Given the description of an element on the screen output the (x, y) to click on. 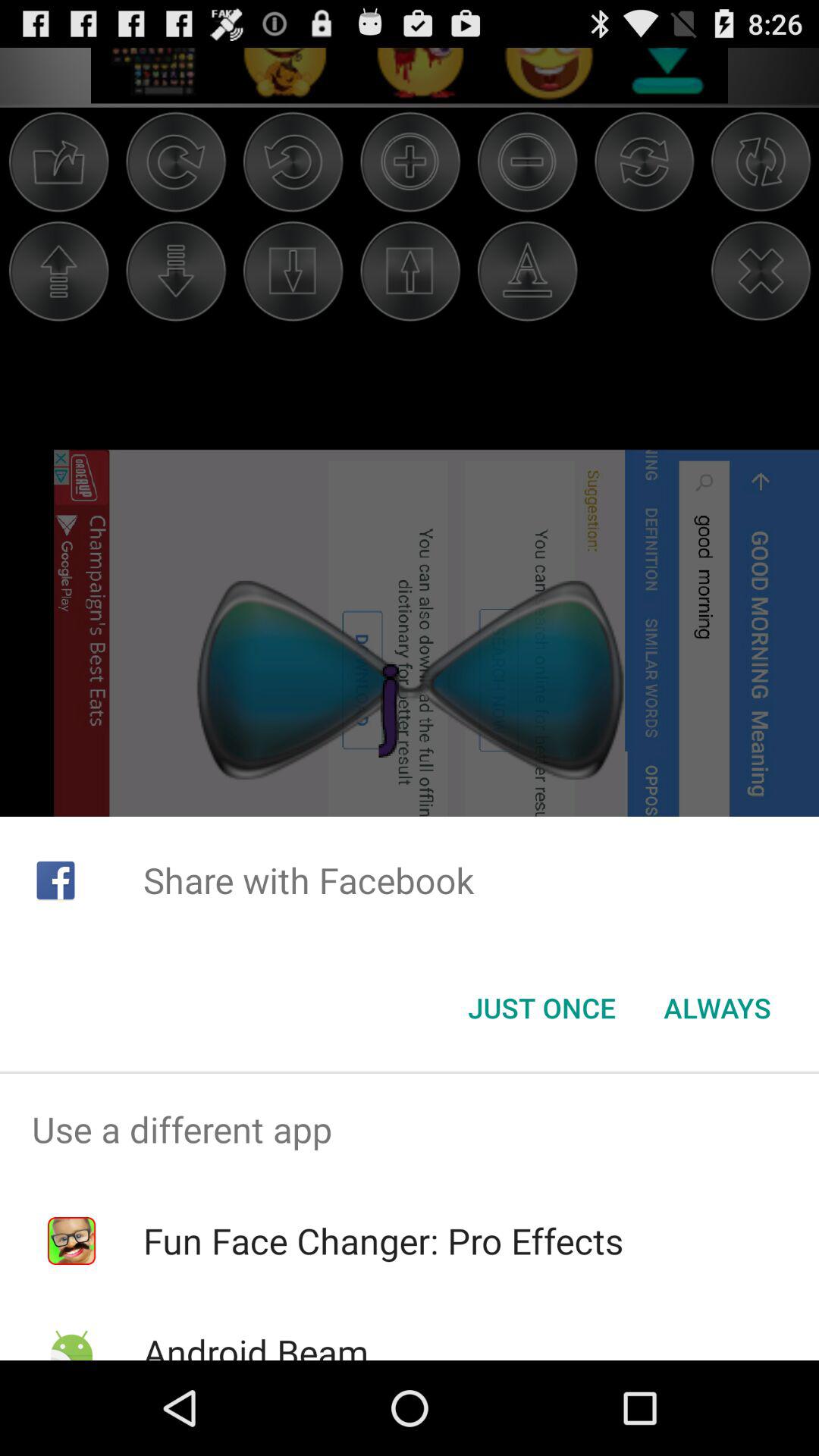
press fun face changer item (383, 1240)
